Given the description of an element on the screen output the (x, y) to click on. 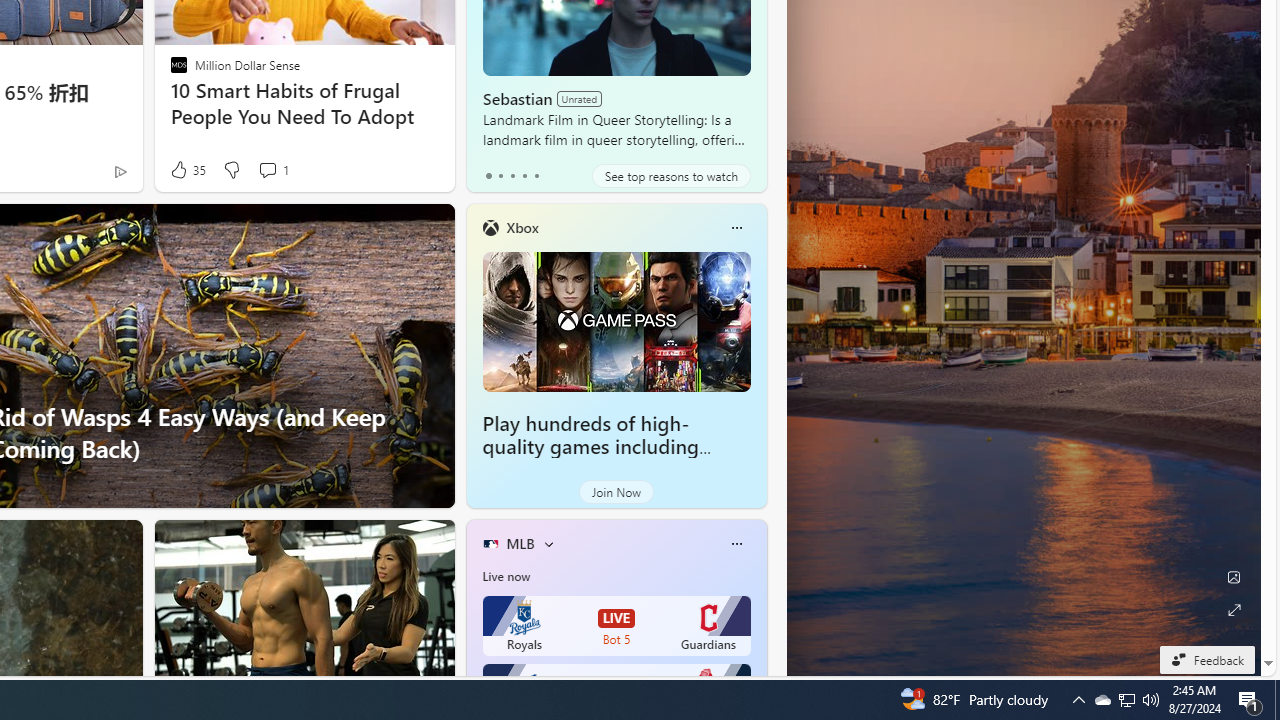
Expand background (1233, 610)
tab-4 (535, 175)
35 Like (186, 170)
tab-0 (488, 175)
MLB (520, 543)
See top reasons to watch (671, 175)
More interests (548, 543)
Edit Background (1233, 577)
tab-3 (524, 175)
Royals LIVE Bot 5 Guardians (616, 625)
tab-2 (511, 175)
